Given the description of an element on the screen output the (x, y) to click on. 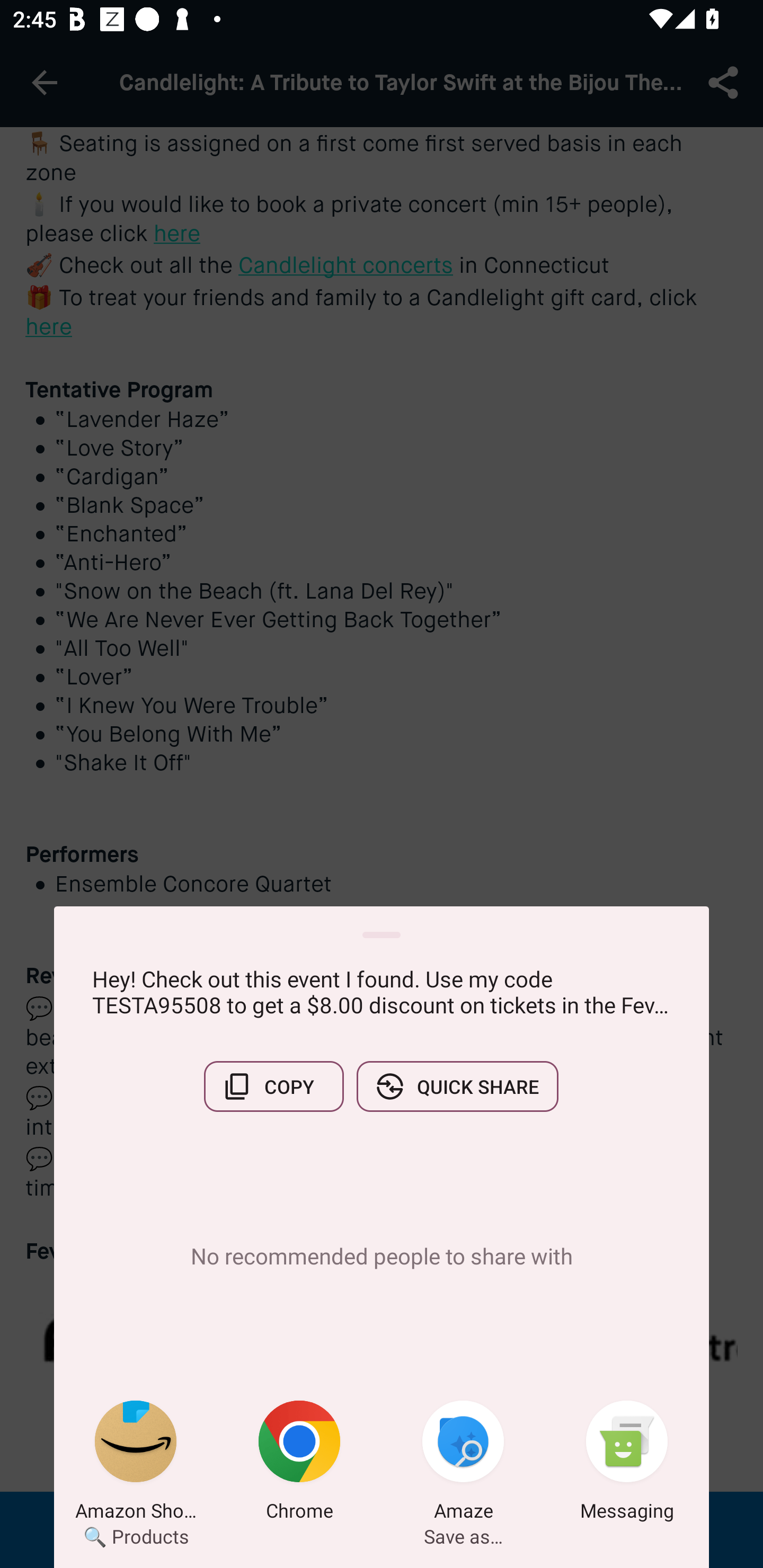
COPY (273, 1086)
QUICK SHARE (457, 1086)
Amazon Shopping 🔍 Products (135, 1463)
Chrome (299, 1463)
Amaze Save as… (463, 1463)
Messaging (626, 1463)
